Given the description of an element on the screen output the (x, y) to click on. 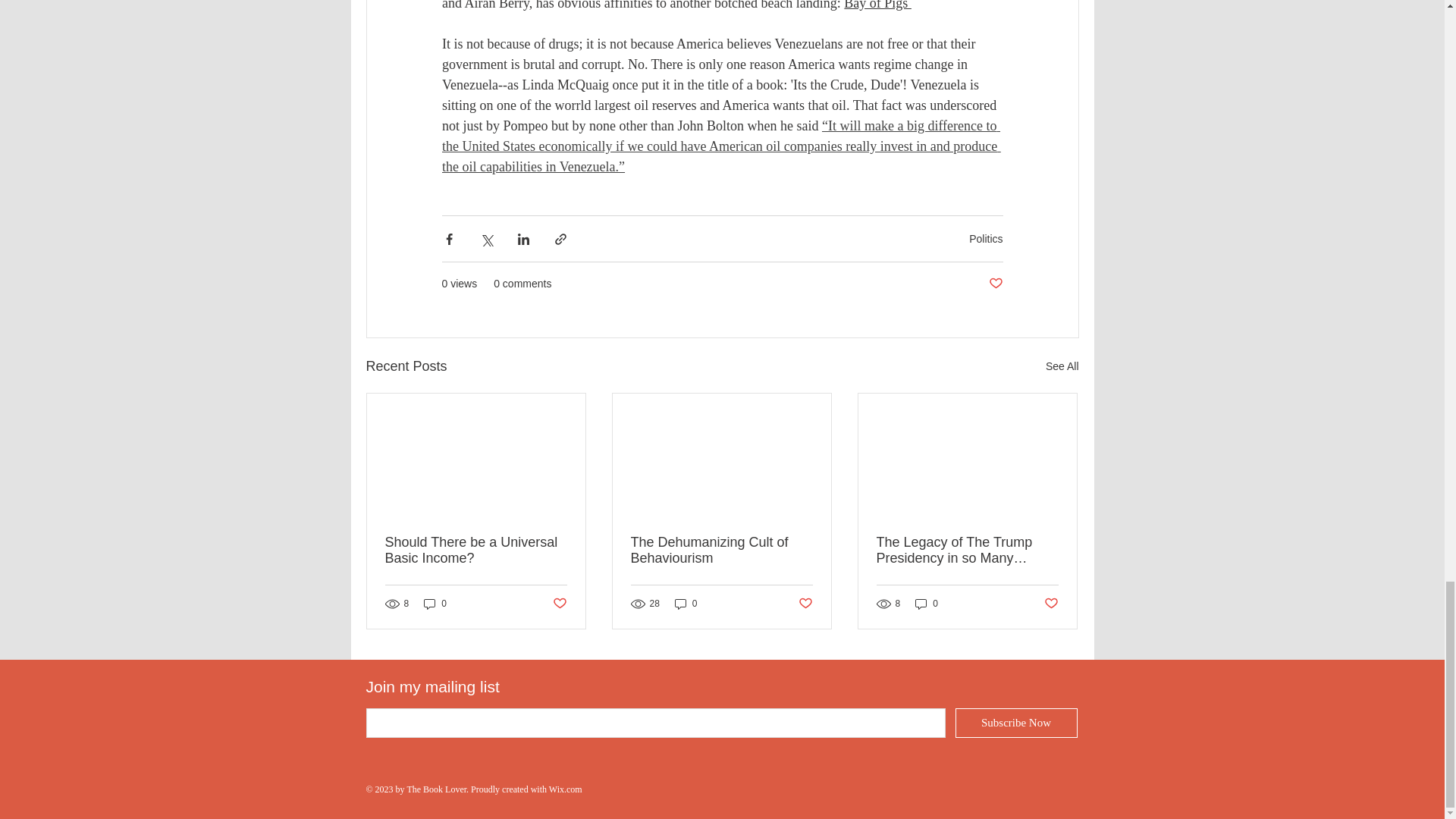
Wix.com (565, 788)
The Dehumanizing Cult of Behaviourism (721, 550)
Should There be a Universal Basic Income? (476, 550)
Post not marked as liked (995, 283)
Post not marked as liked (1050, 602)
0 (685, 603)
0 (435, 603)
Bay of Pigs  (877, 5)
Post not marked as liked (558, 602)
Politics (986, 238)
Post not marked as liked (804, 602)
Subscribe Now (1016, 722)
See All (1061, 366)
0 (926, 603)
The Legacy of The Trump Presidency in so Many Tweets (967, 550)
